Given the description of an element on the screen output the (x, y) to click on. 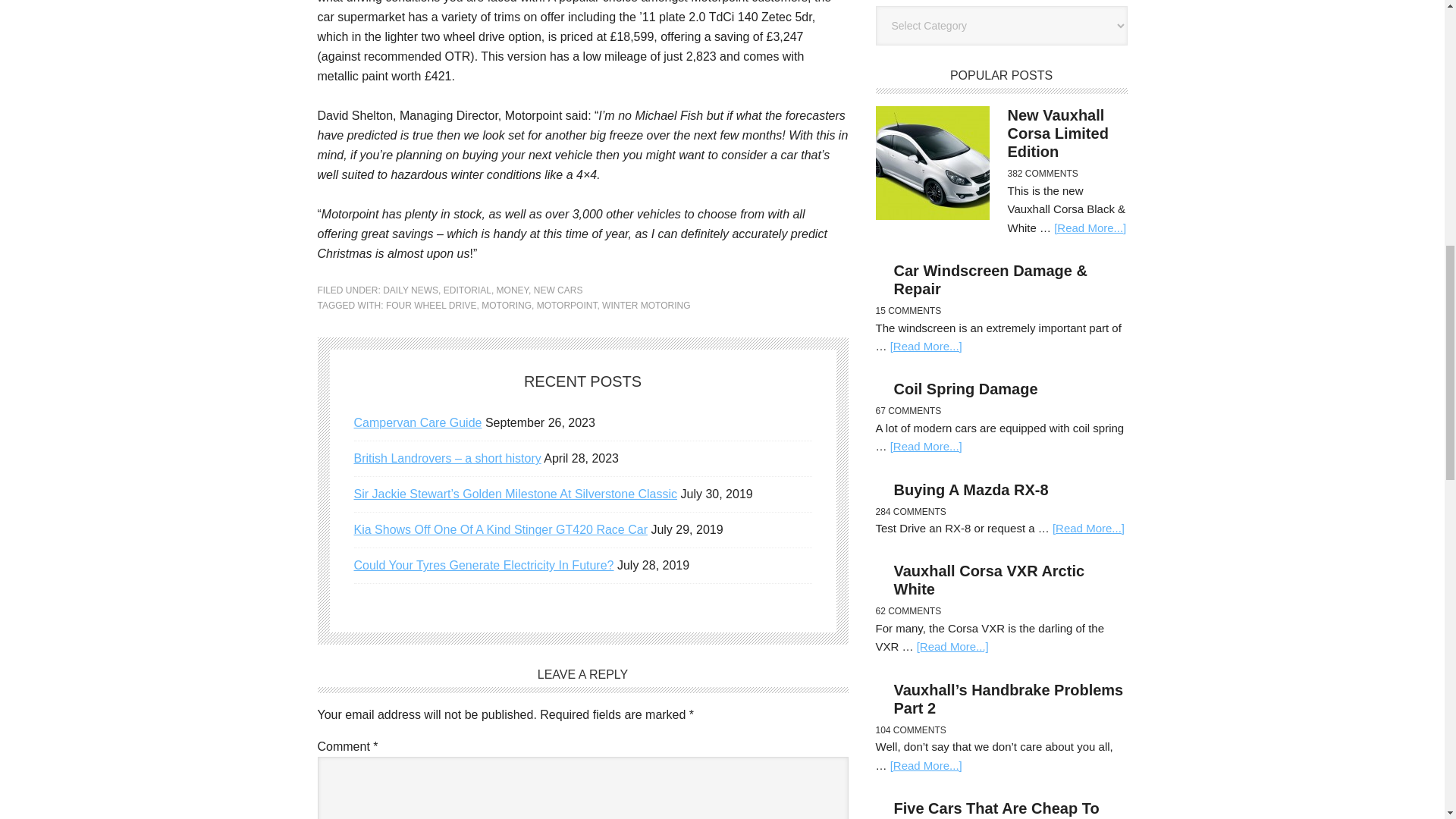
MOTORPOINT (566, 305)
15 COMMENTS (907, 310)
NEW CARS (558, 290)
Kia Shows Off One Of A Kind Stinger GT420 Race Car (499, 529)
EDITORIAL (468, 290)
DAILY NEWS (410, 290)
WINTER MOTORING (646, 305)
382 COMMENTS (1042, 173)
Campervan Care Guide (417, 422)
New Vauxhall Corsa Limited Edition (1057, 133)
FOUR WHEEL DRIVE (431, 305)
MOTORING (506, 305)
MONEY (512, 290)
Could Your Tyres Generate Electricity In Future? (482, 564)
